Given the description of an element on the screen output the (x, y) to click on. 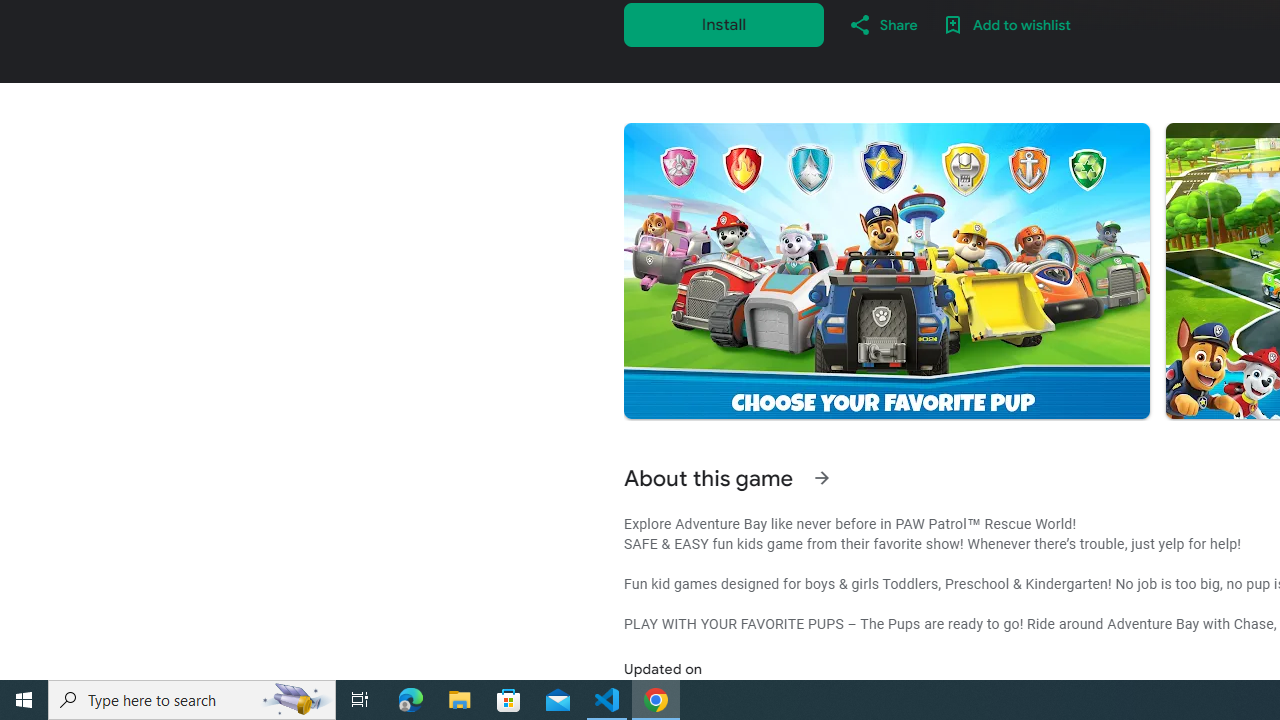
Add to wishlist (1006, 24)
Install (723, 24)
Share (881, 24)
See more information on About this game (821, 477)
Screenshot image (886, 271)
